Given the description of an element on the screen output the (x, y) to click on. 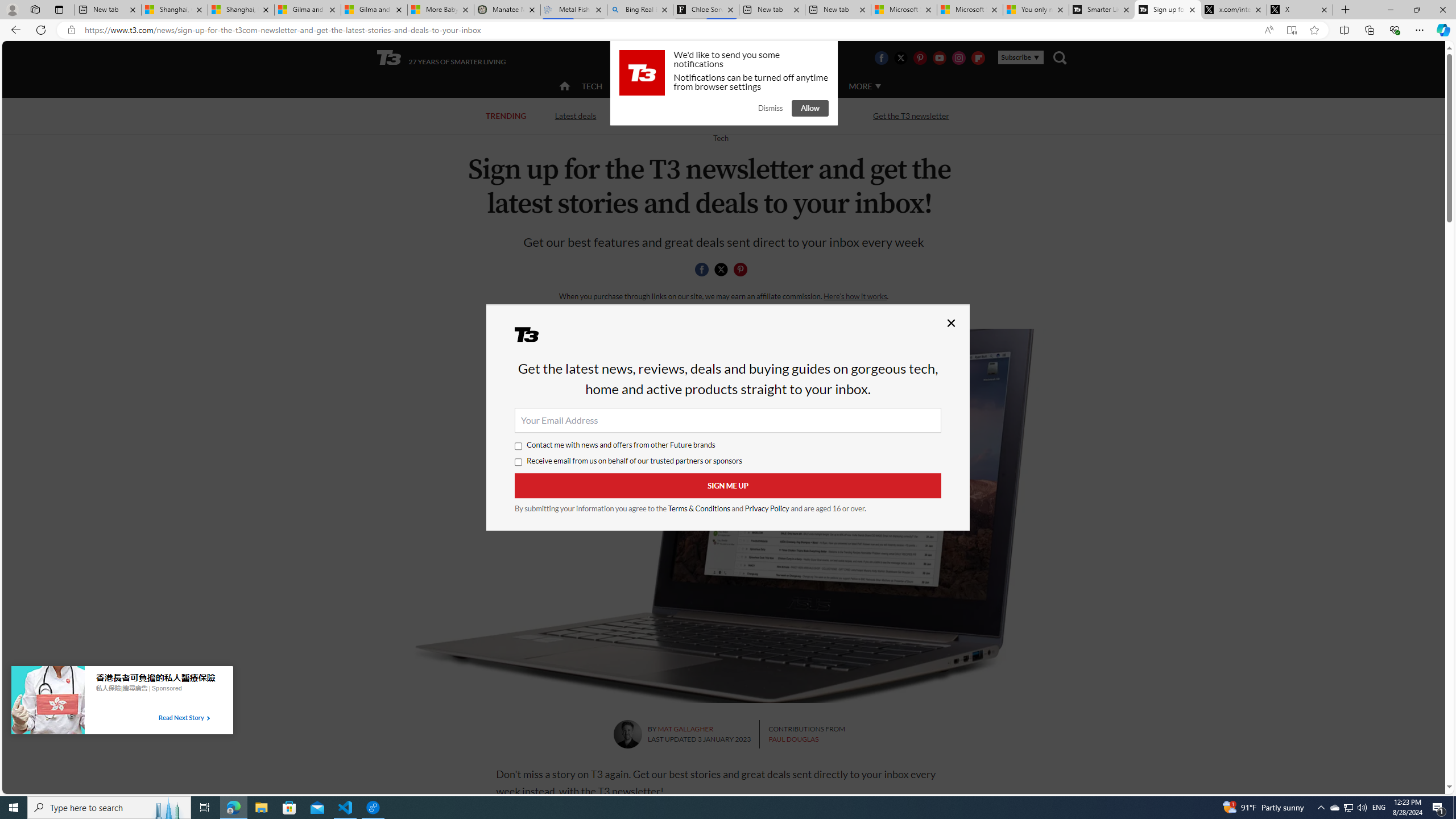
Subscribe (1020, 56)
Class: tbl-arrow-icon arrow-1 (208, 717)
Class: navigation__search (1059, 57)
Return to Tech (720, 137)
MORE  (863, 86)
Share this page on Pintrest (739, 269)
AUTO (815, 86)
Back to Class 2024 (669, 115)
Get the T3 newsletter (911, 115)
Streaming TV and movies (788, 115)
Sign me up (727, 485)
Visit us on Youtube (938, 57)
